Given the description of an element on the screen output the (x, y) to click on. 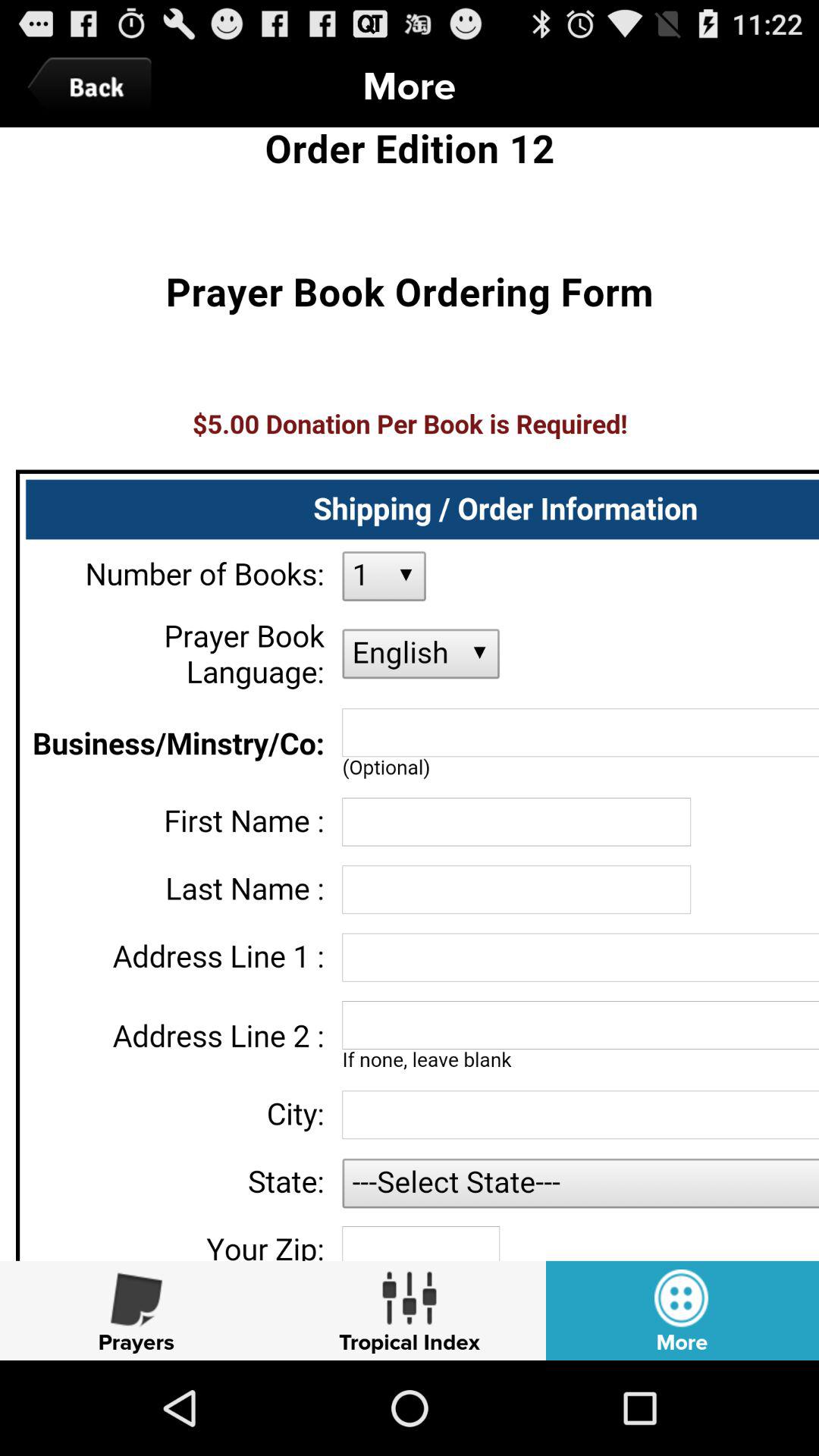
enter shipping information (409, 693)
